Given the description of an element on the screen output the (x, y) to click on. 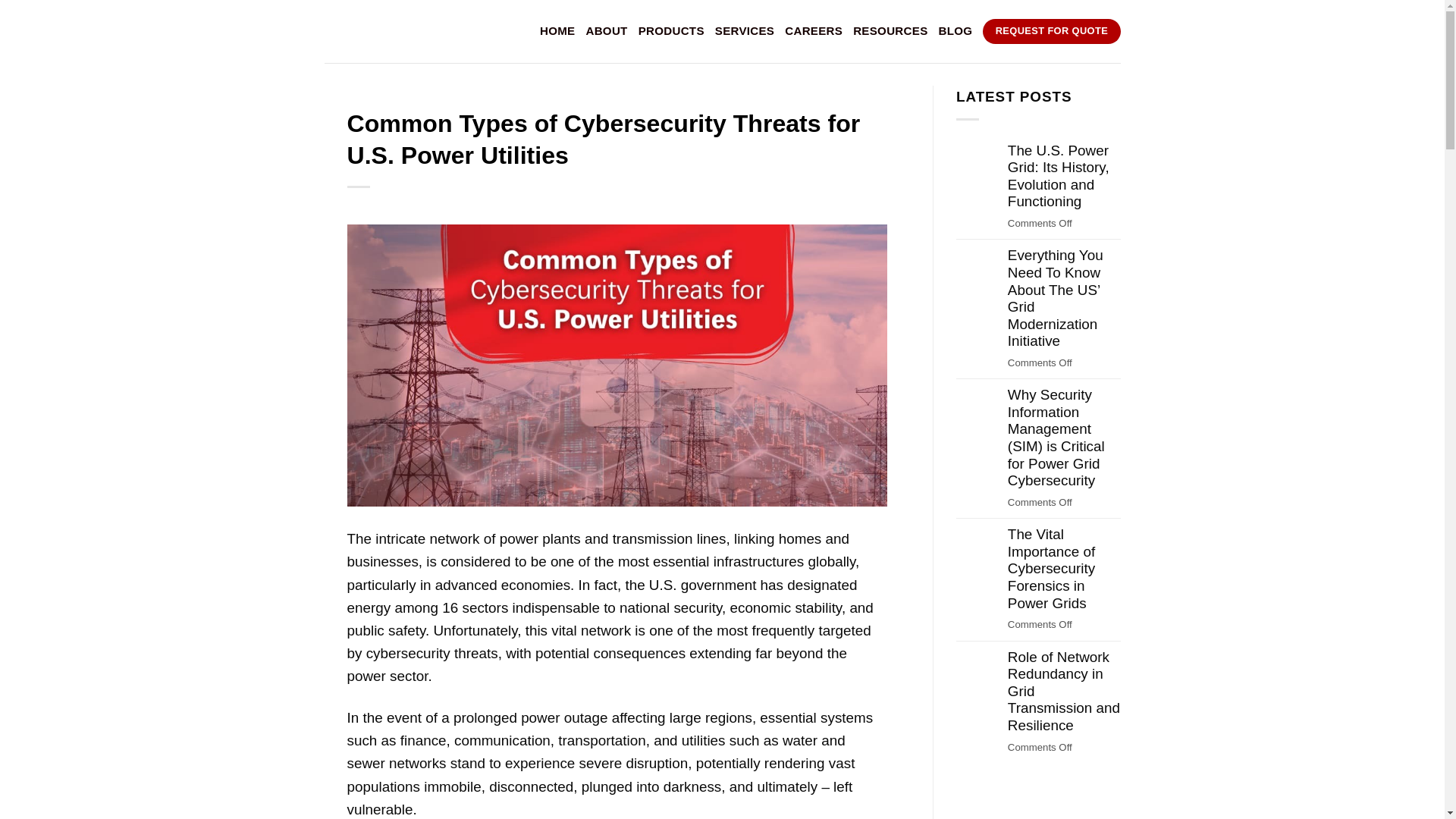
BLOG (955, 30)
The U.S. Power Grid: Its History, Evolution and Functioning (1064, 176)
REQUEST FOR QUOTE (1050, 31)
RESOURCES (890, 30)
HOME (557, 30)
